Given the description of an element on the screen output the (x, y) to click on. 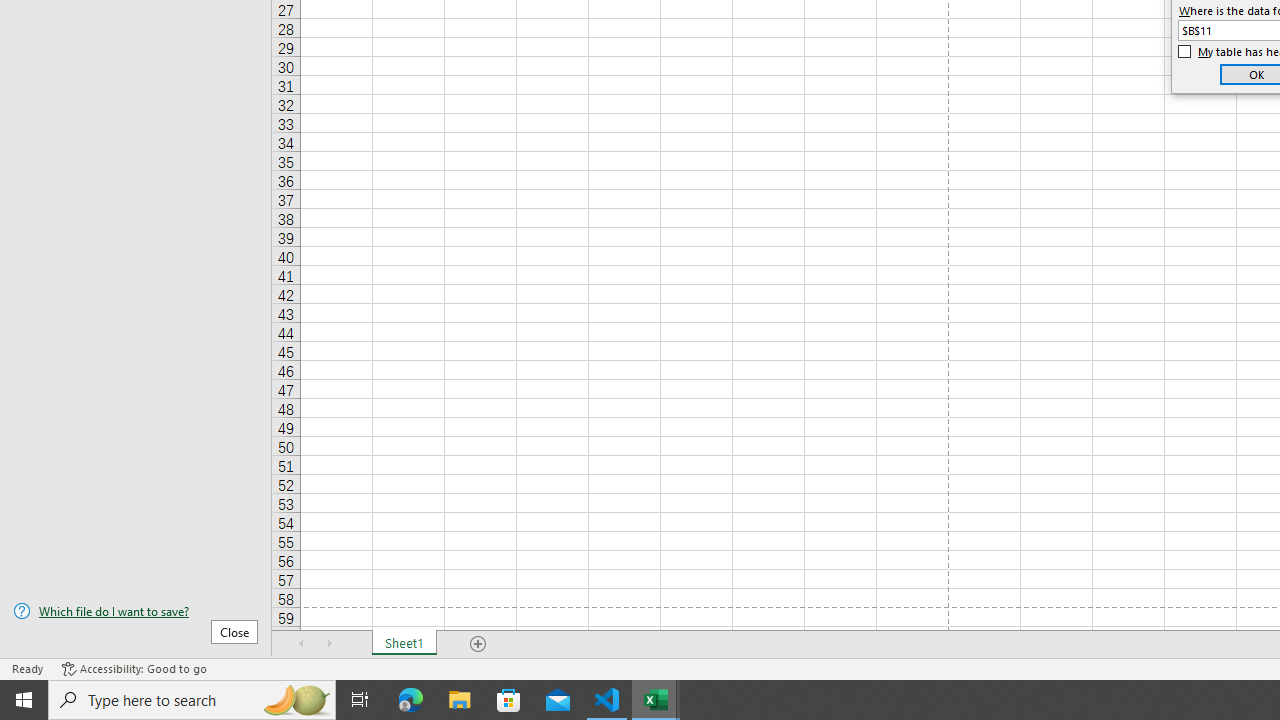
Scroll Right (330, 644)
Sheet1 (404, 644)
Add Sheet (478, 644)
Which file do I want to save? (136, 611)
Scroll Left (302, 644)
Accessibility Checker Accessibility: Good to go (134, 668)
